Given the description of an element on the screen output the (x, y) to click on. 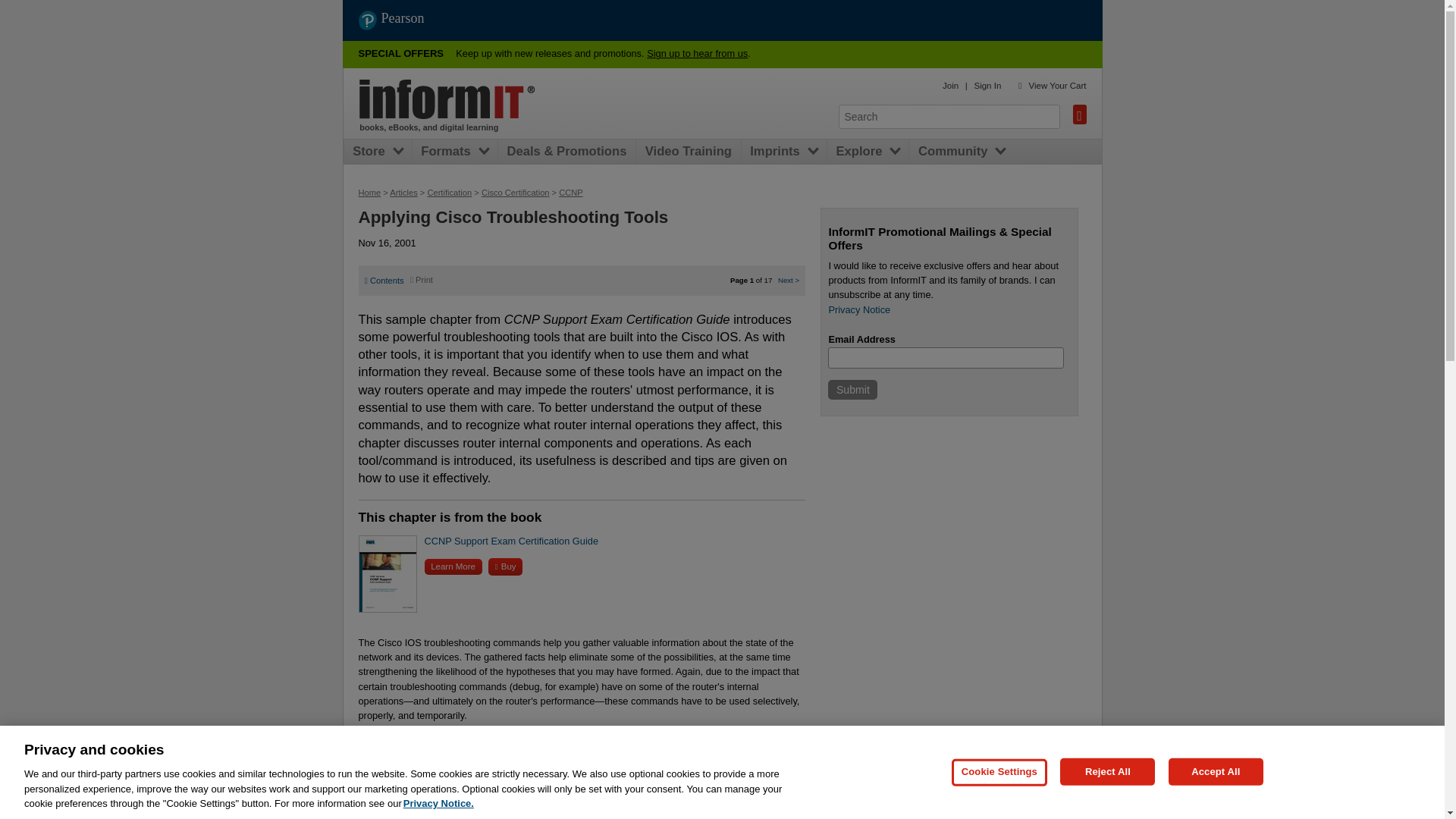
CCNP (571, 192)
Home (369, 192)
CCNP Support Exam Certification Guide (511, 541)
Home (446, 98)
Learn More (453, 566)
Sign up to hear from us (697, 52)
Print (421, 279)
Articles (403, 192)
Submit (852, 389)
Certification (448, 192)
Cisco Certification (515, 192)
Privacy Notice (858, 309)
